Given the description of an element on the screen output the (x, y) to click on. 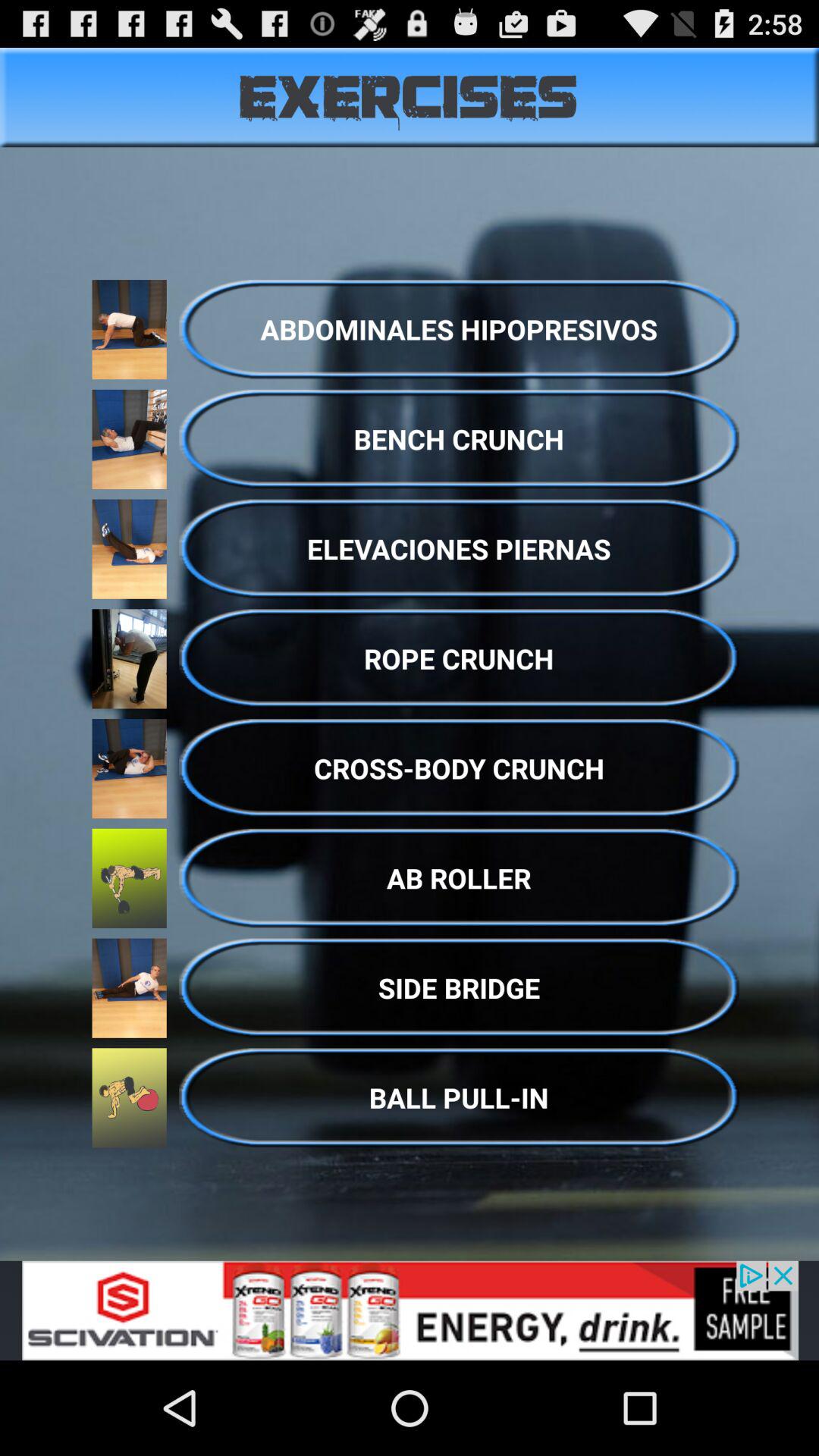
click advertisement (409, 1310)
